Given the description of an element on the screen output the (x, y) to click on. 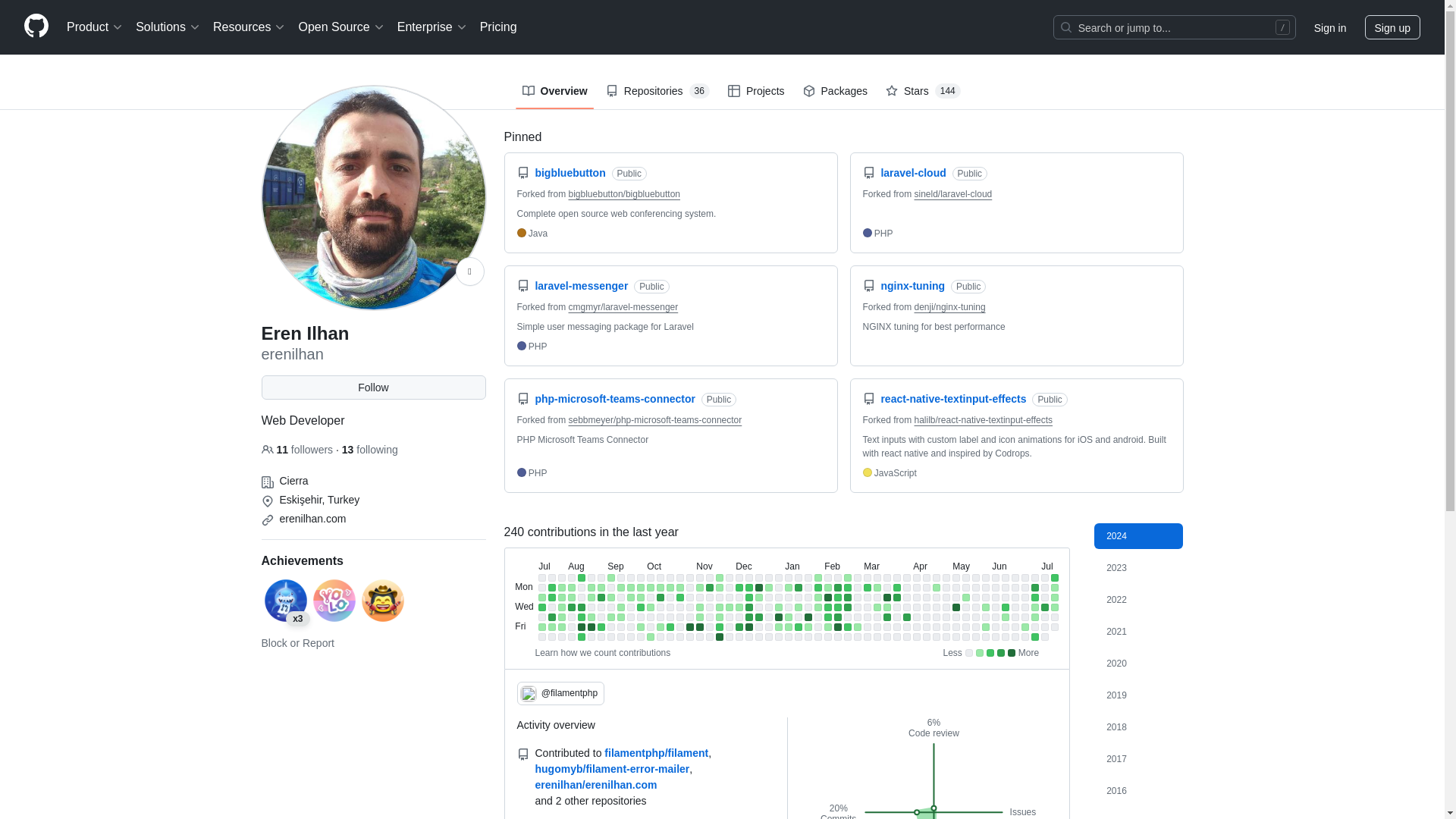
Resources (249, 27)
Product (95, 27)
Open Source (341, 27)
144 (947, 90)
Solutions (167, 27)
36 (699, 90)
